Given the description of an element on the screen output the (x, y) to click on. 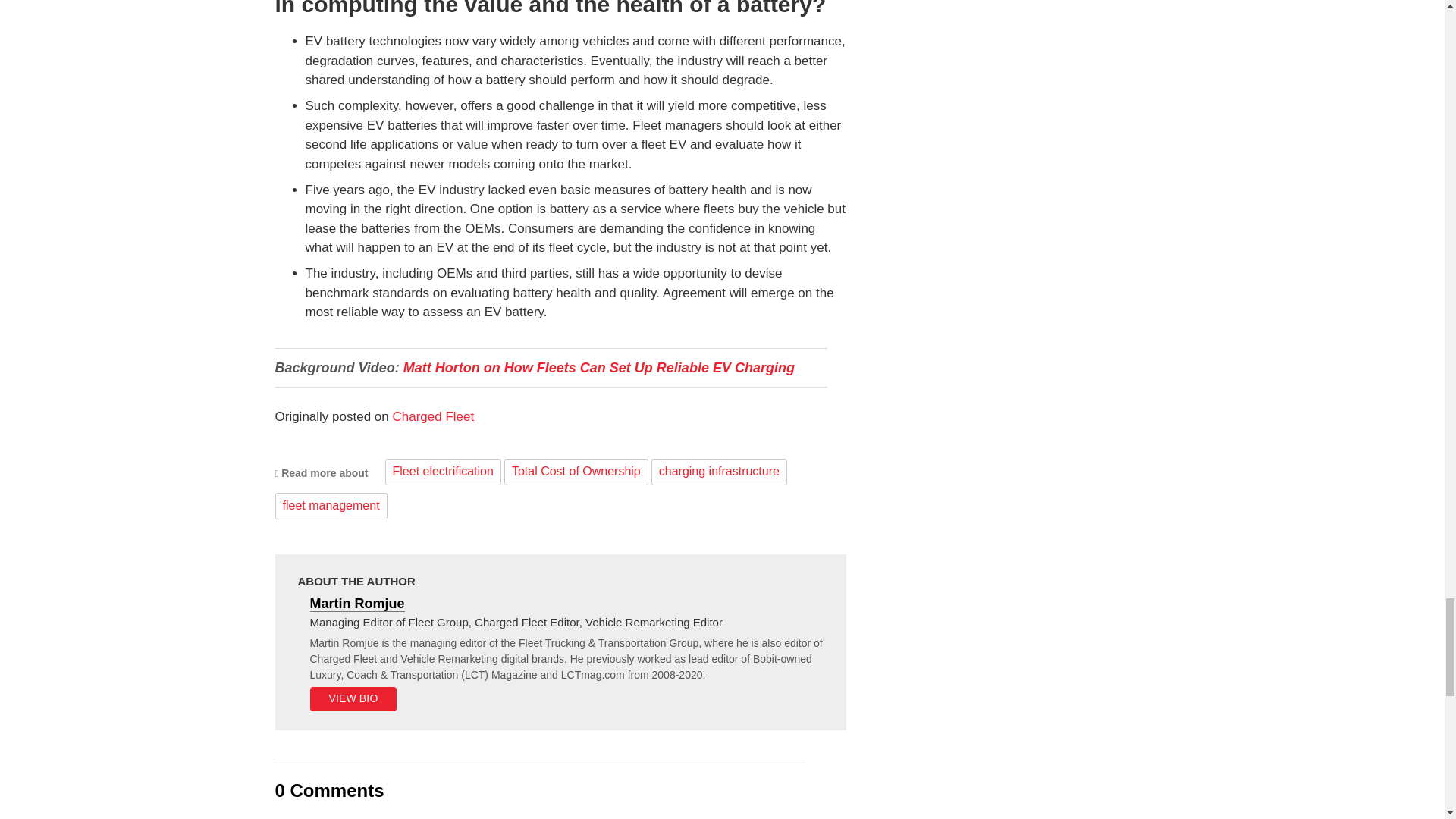
Matt Horton on How Fleets Can Set Up Reliable EV Charging (598, 366)
Fleet electrification (442, 471)
Charged Fleet (432, 416)
Total Cost of Ownership (575, 471)
